Given the description of an element on the screen output the (x, y) to click on. 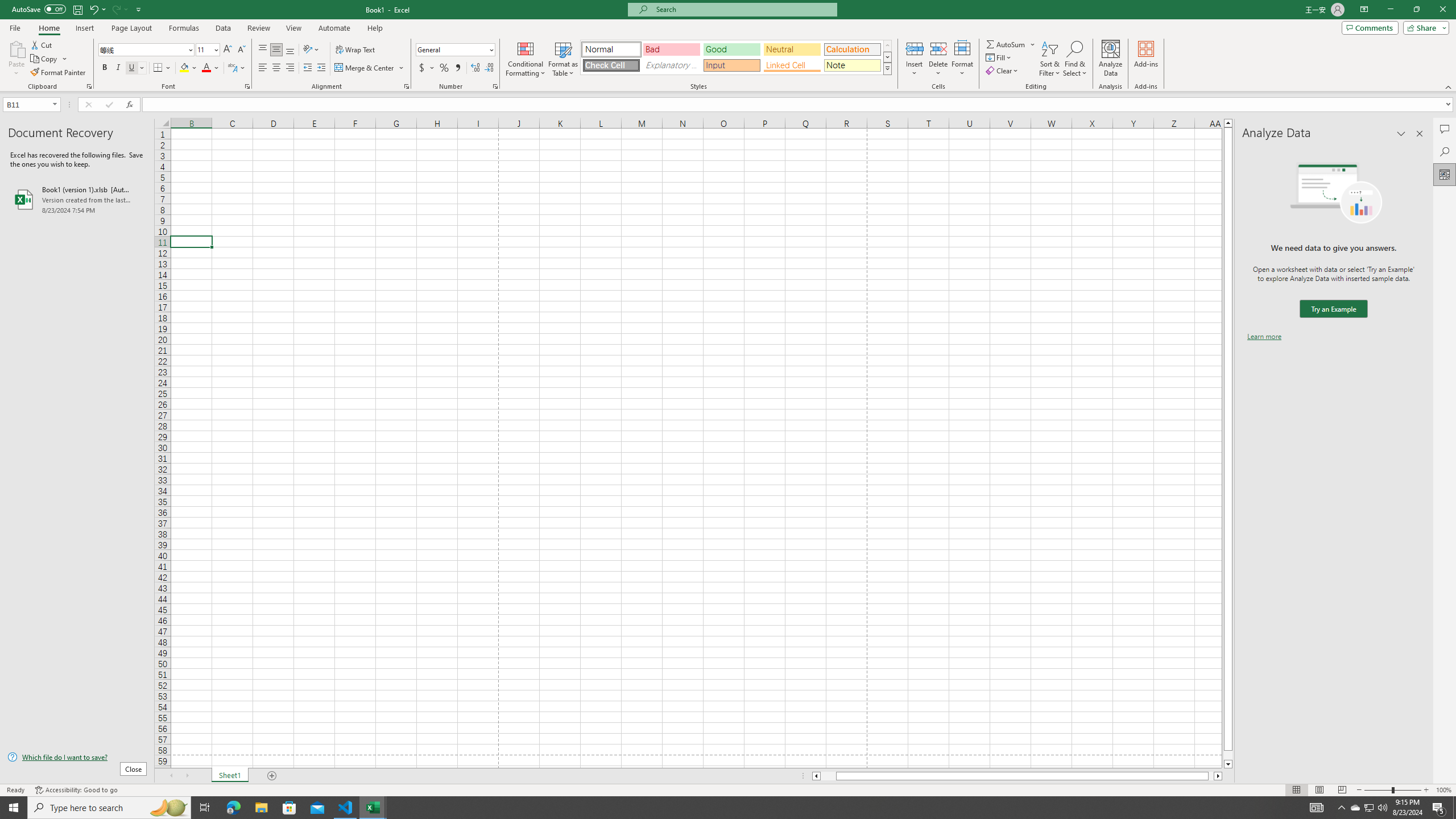
Decrease Font Size (240, 49)
Font (147, 49)
Good (731, 49)
Bottom Border (157, 67)
Learn more (1264, 336)
Linked Cell (791, 65)
Search (1444, 151)
Show Phonetic Field (231, 67)
Fill Color RGB(255, 255, 0) (183, 67)
Top Align (262, 49)
Borders (162, 67)
Conditional Formatting (525, 58)
